Given the description of an element on the screen output the (x, y) to click on. 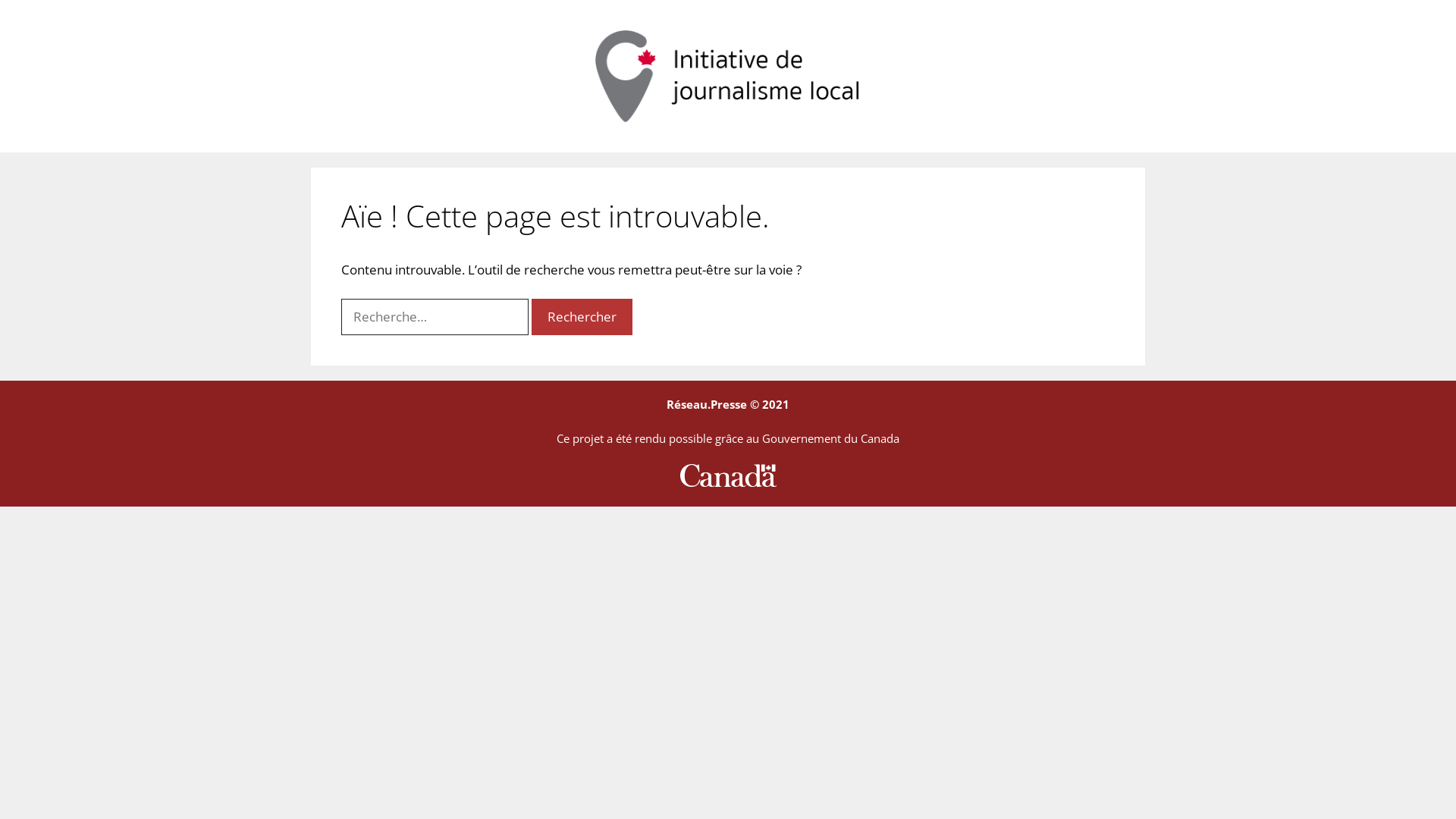
Aller au contenu Element type: text (0, 0)
Rechercher Element type: text (581, 316)
